Given the description of an element on the screen output the (x, y) to click on. 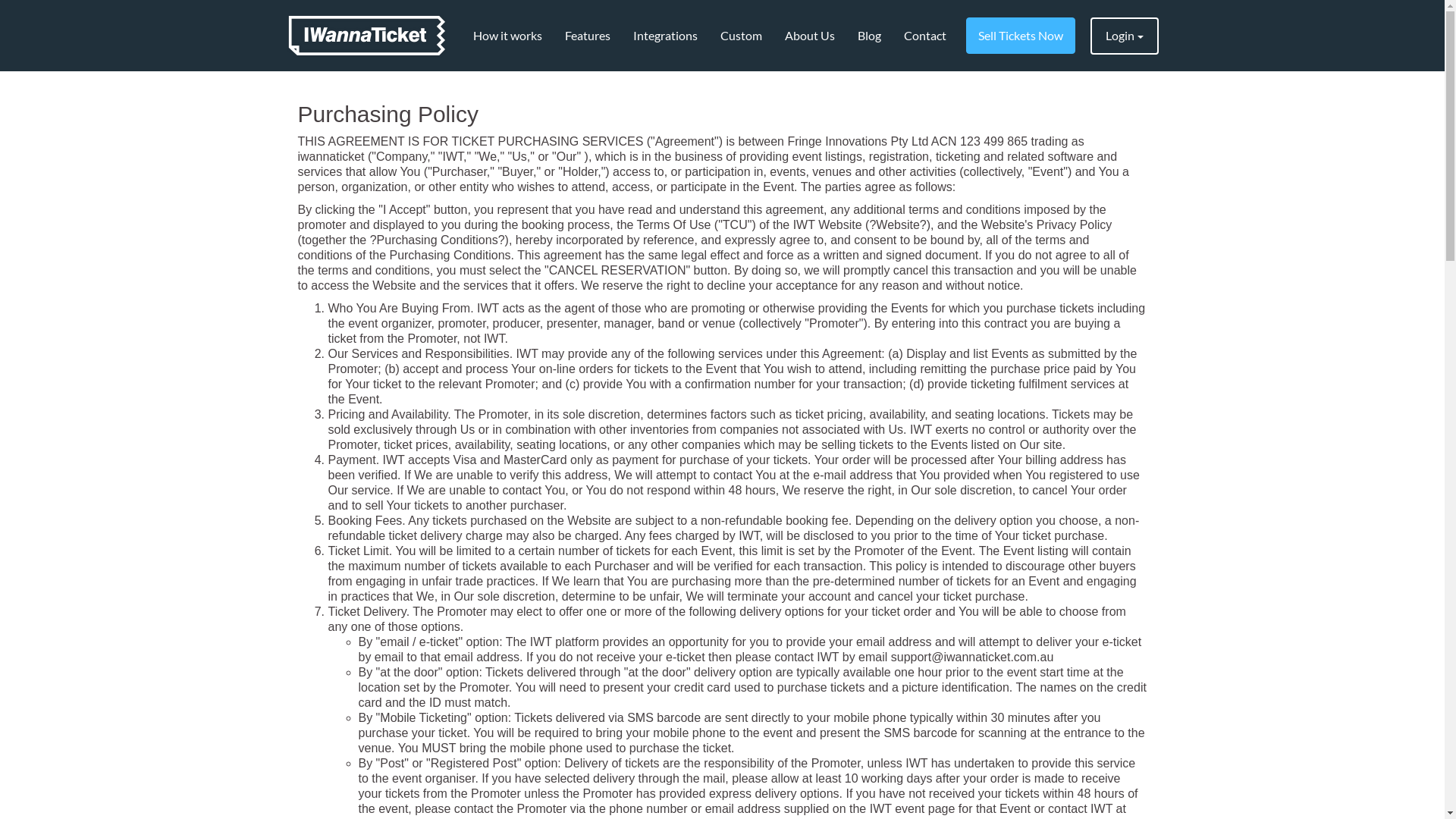
Integrations Element type: text (665, 35)
About Us Element type: text (809, 35)
Custom Element type: text (740, 35)
Blog Element type: text (869, 35)
Features Element type: text (587, 35)
Sell Tickets Now Element type: text (1020, 35)
Contact Element type: text (924, 35)
IWannaTicket Element type: text (366, 35)
Login Element type: text (1124, 35)
How it works Element type: text (506, 35)
